Given the description of an element on the screen output the (x, y) to click on. 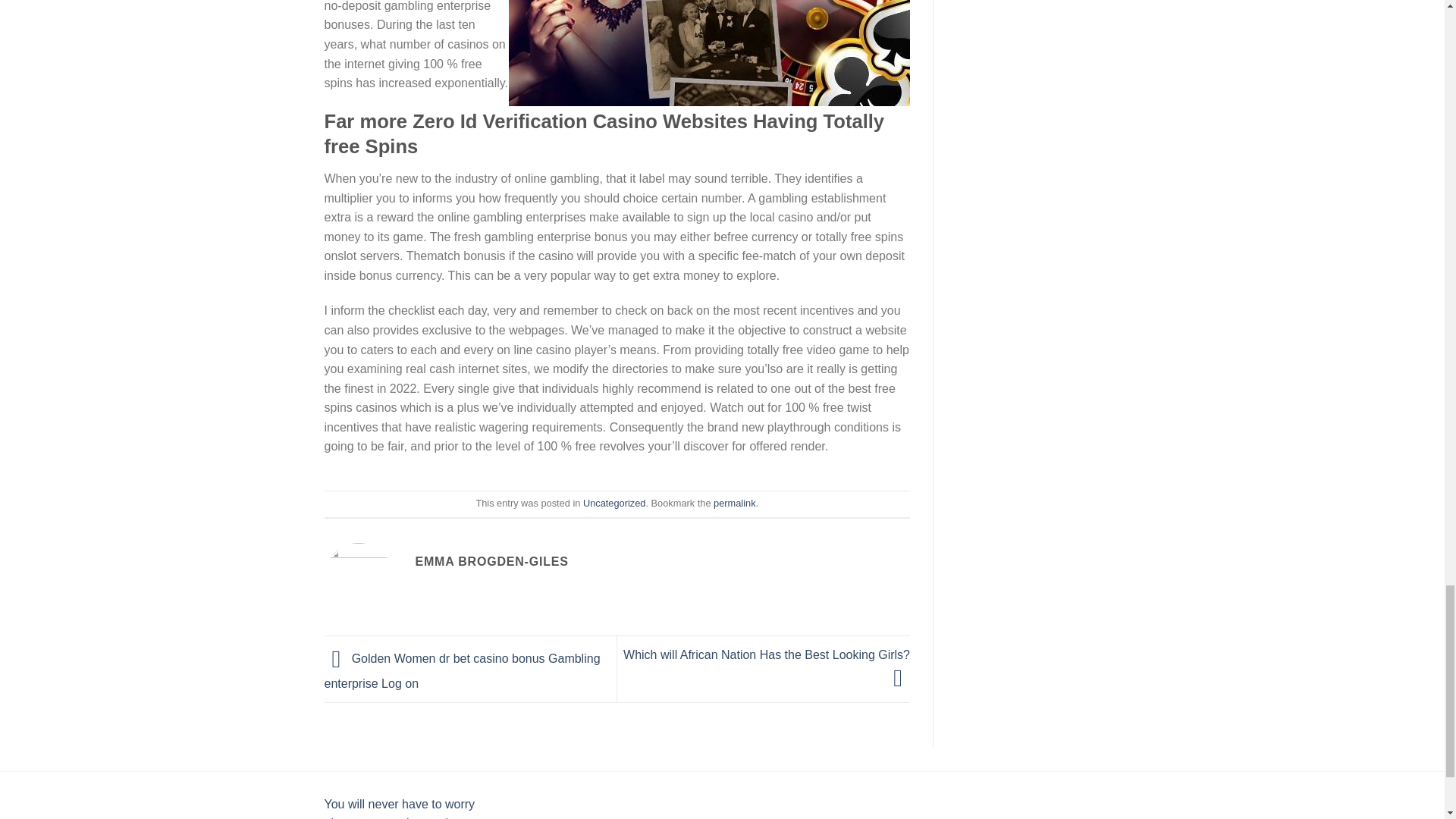
Which will African Nation Has the Best Looking Girls? (766, 666)
Uncategorized (614, 502)
permalink (734, 502)
Golden Women dr bet casino bonus Gambling enterprise Log on (461, 670)
